Given the description of an element on the screen output the (x, y) to click on. 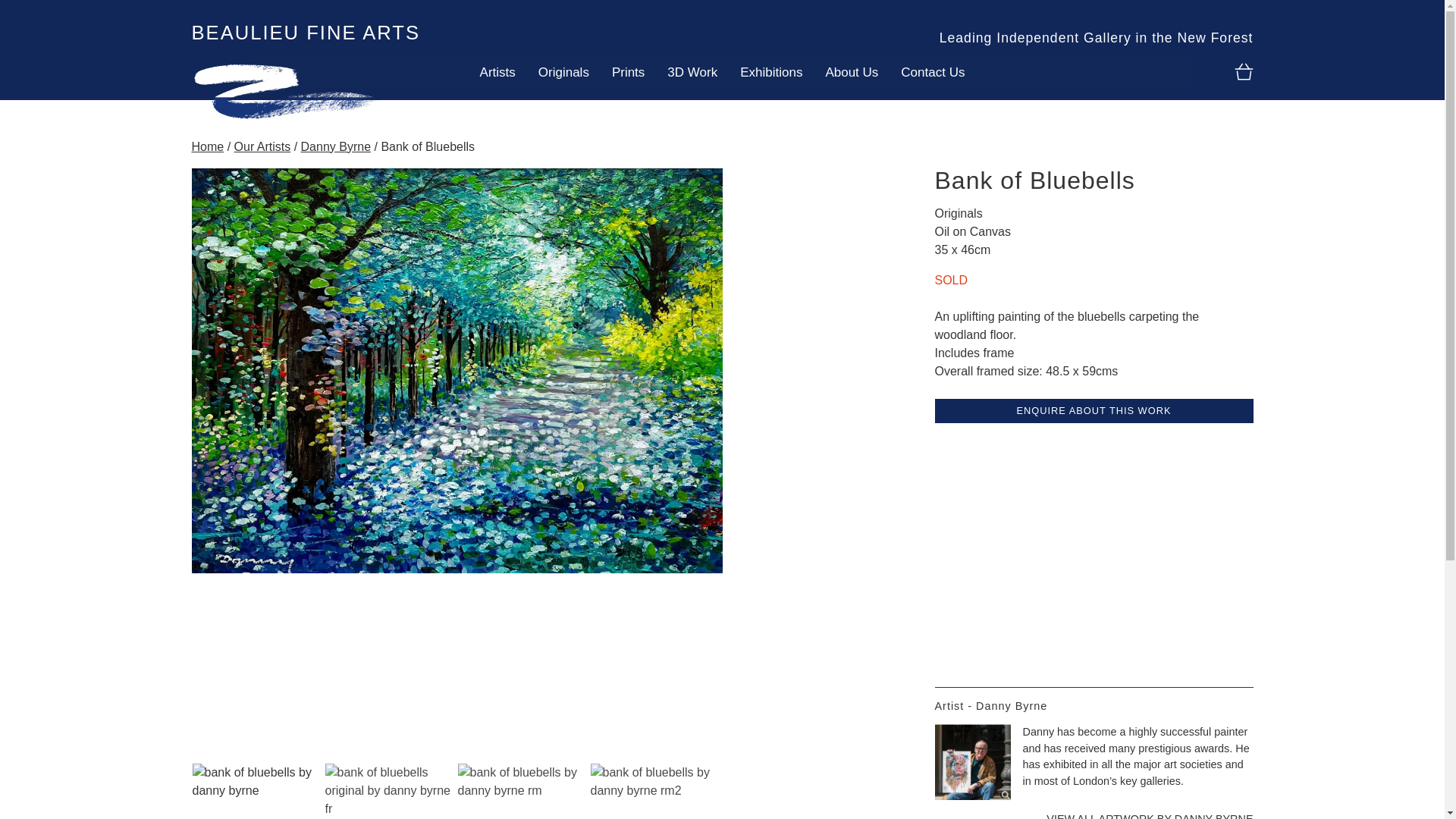
3D Work (692, 72)
Exhibitions (771, 72)
BEAULIEU FINE ARTS (305, 32)
About Us (851, 72)
Prints (627, 72)
Originals (563, 72)
Contact Us (932, 72)
Artists (497, 72)
